Given the description of an element on the screen output the (x, y) to click on. 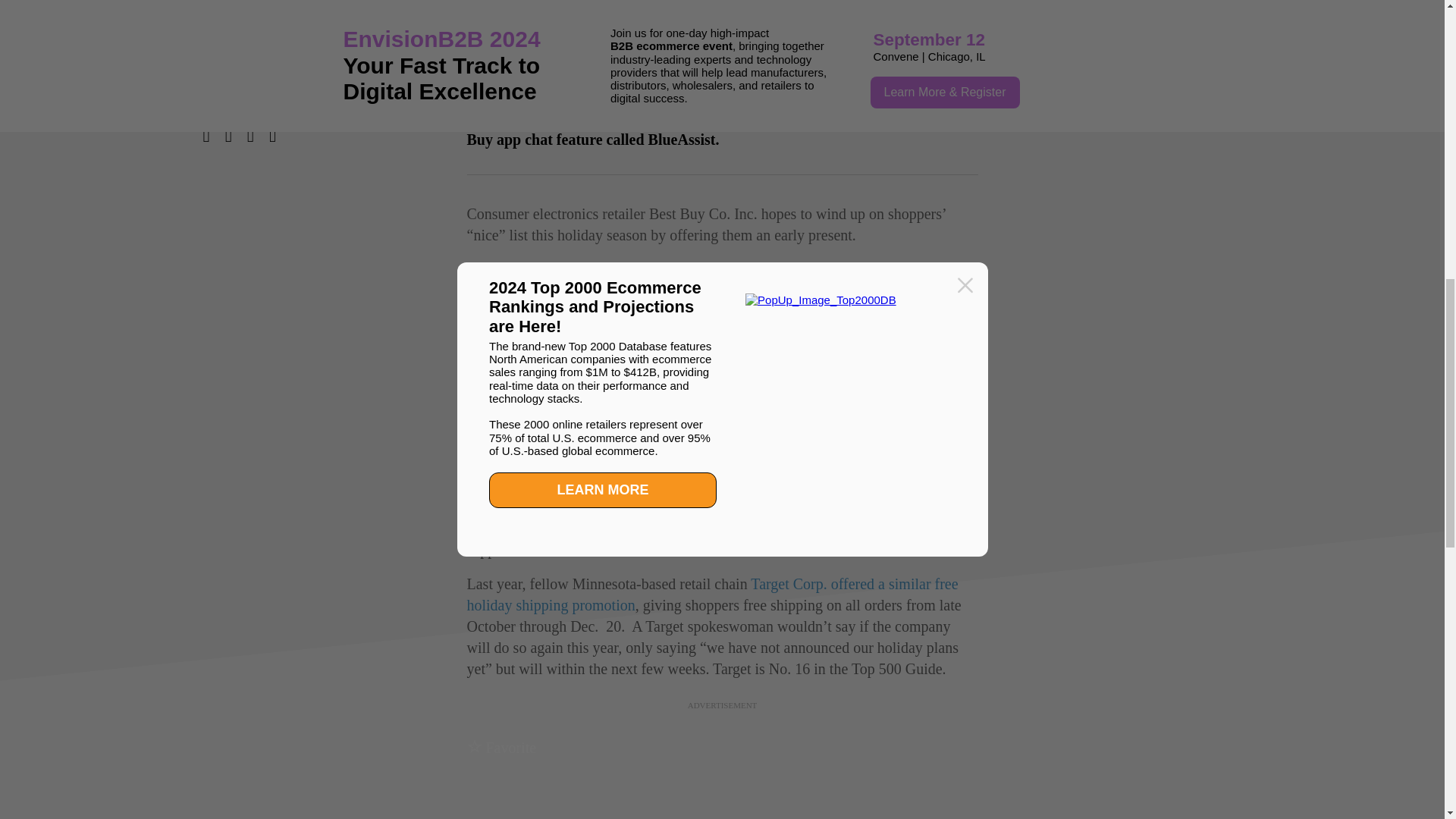
E-retailers move into holiday mode (717, 322)
Learn more about Best Buy's mobile app (741, 485)
Best Buy raises the stakes on free shipping for the holidays (494, 269)
View the Geek Squad's Facebook page (861, 528)
Share: (314, 132)
